Given the description of an element on the screen output the (x, y) to click on. 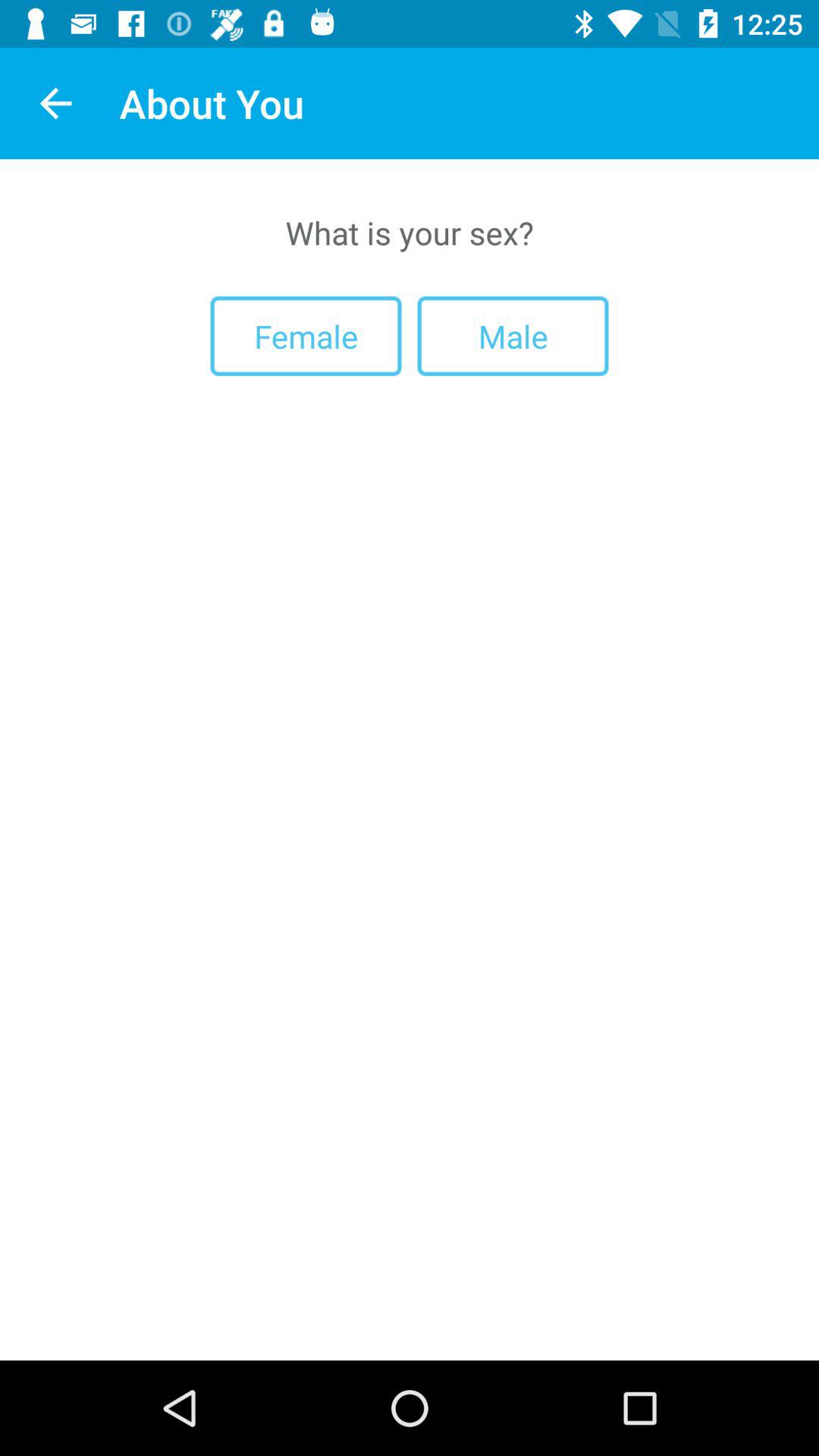
turn off the male (512, 335)
